Given the description of an element on the screen output the (x, y) to click on. 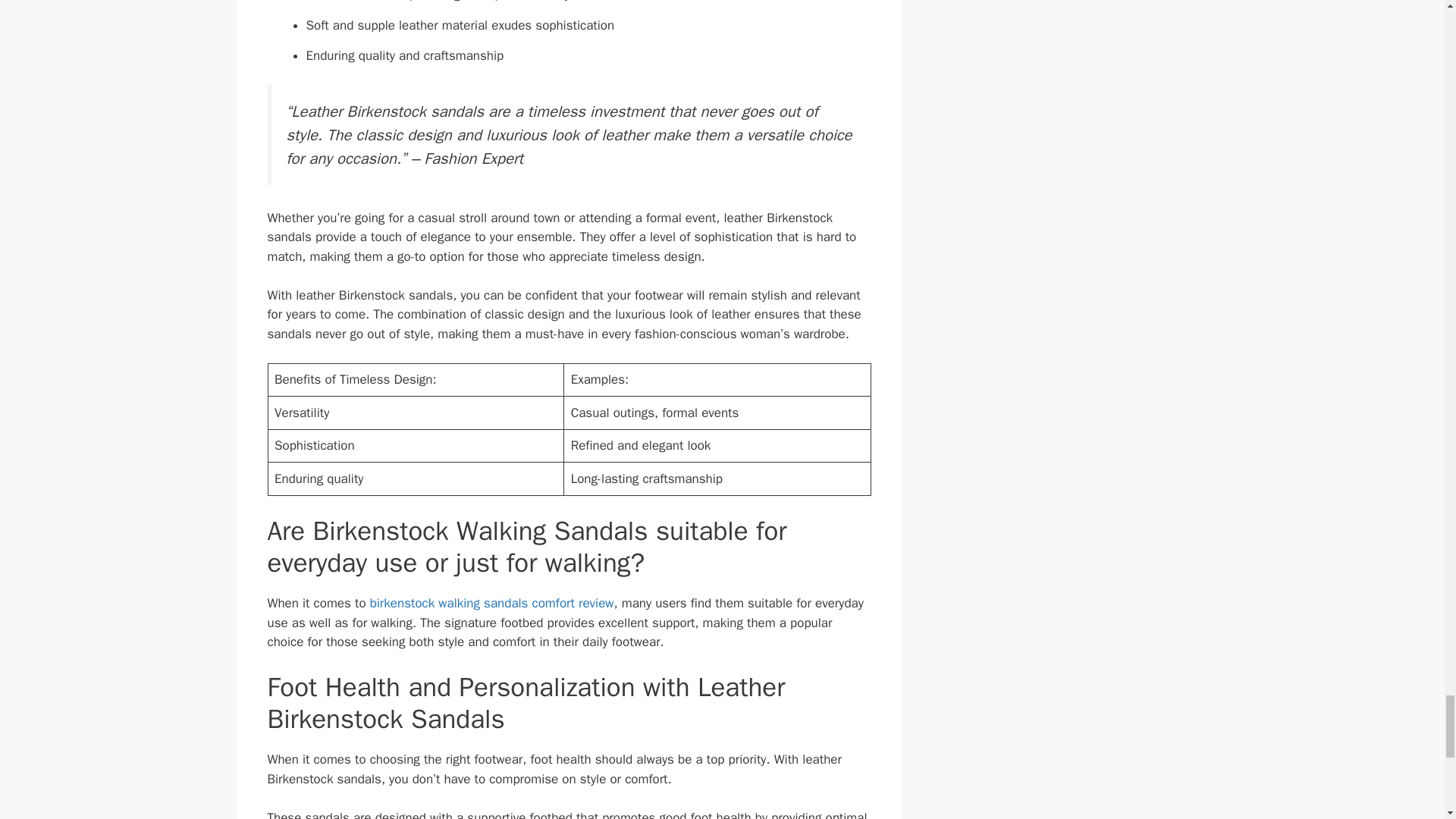
birkenstock walking sandals comfort review (491, 602)
